Given the description of an element on the screen output the (x, y) to click on. 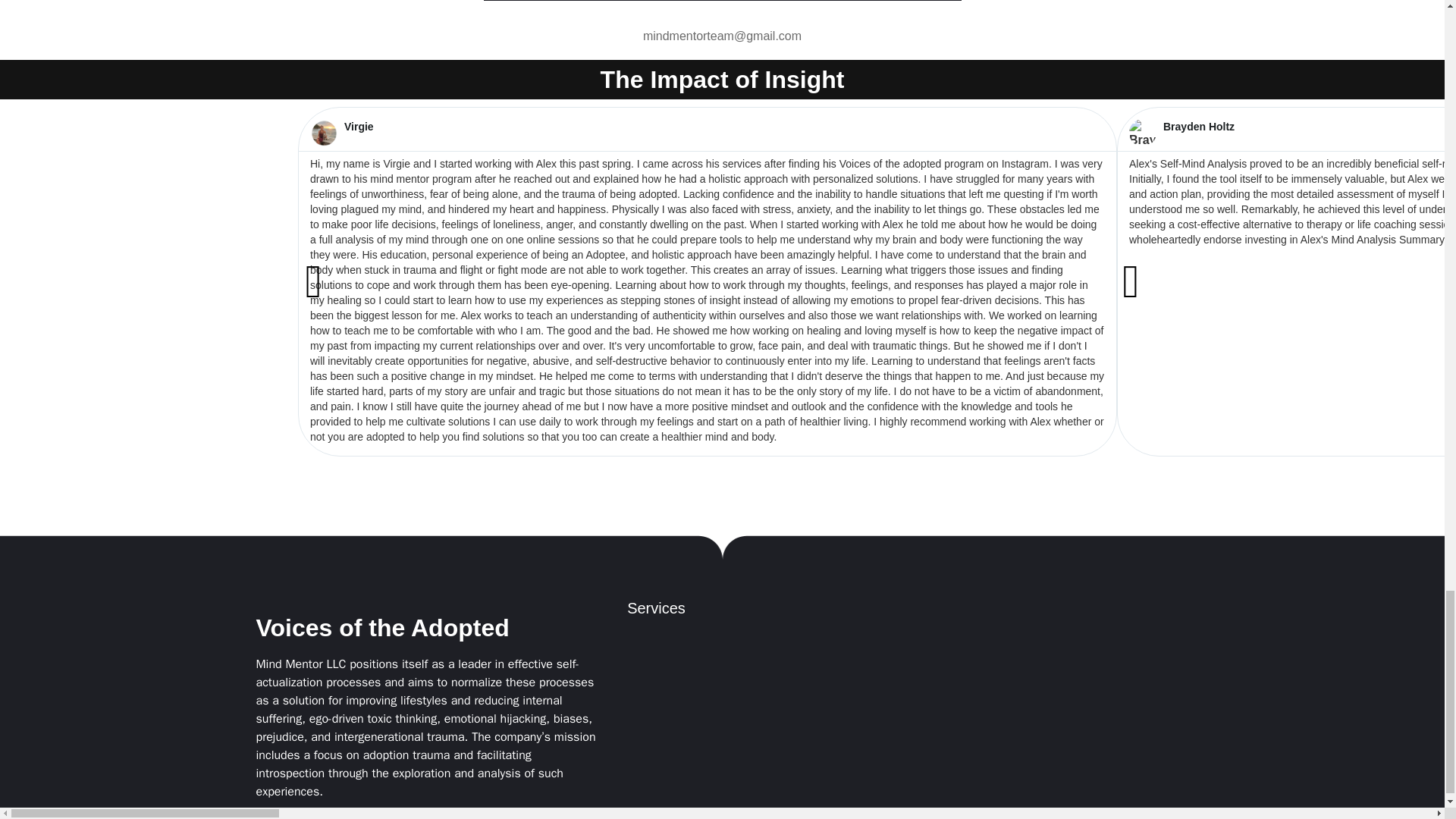
Services (656, 607)
